Given the description of an element on the screen output the (x, y) to click on. 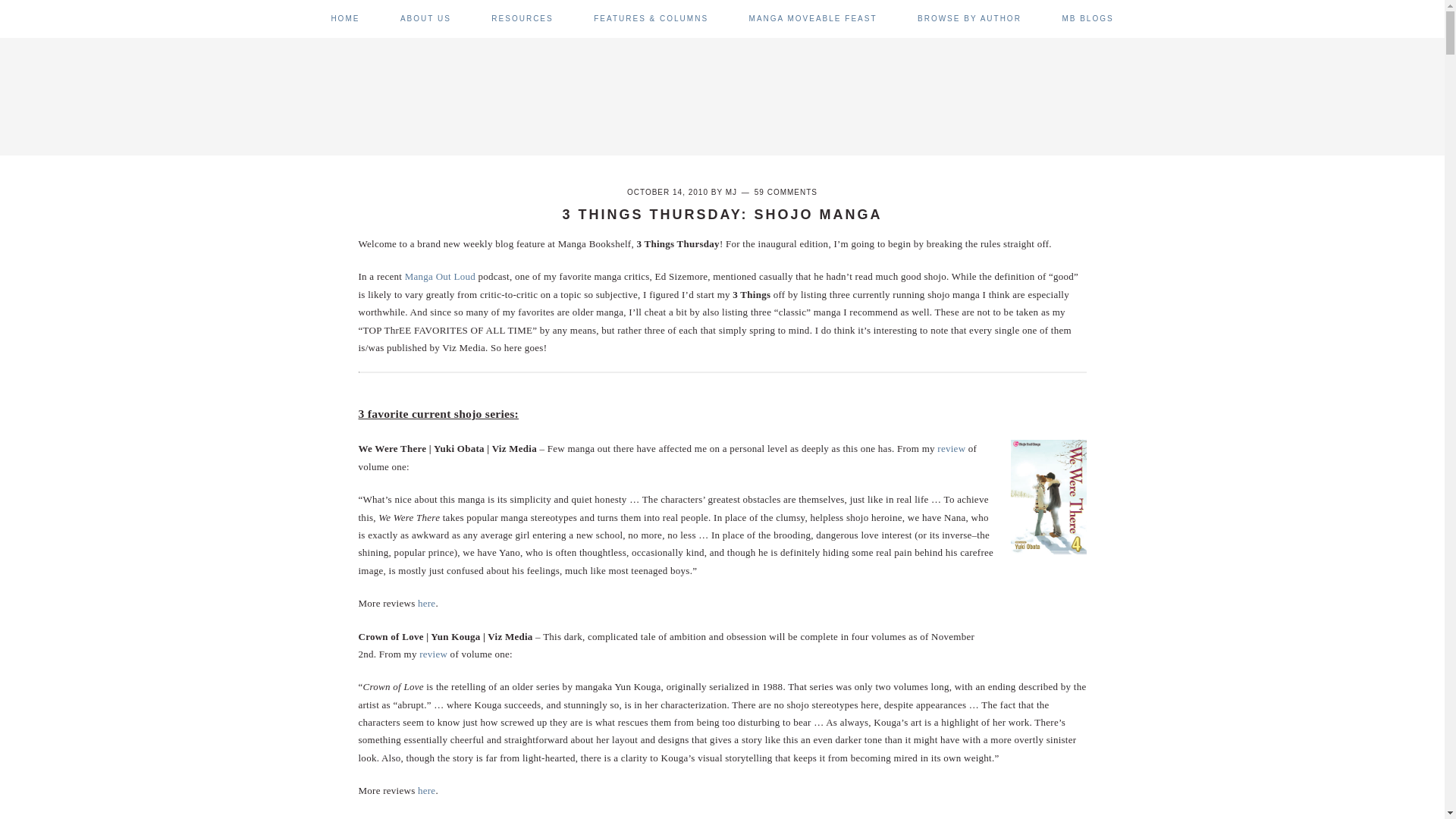
Posts by MJ (730, 192)
RESOURCES (521, 18)
ABOUT US (425, 18)
HOME (344, 18)
MANGA MOVEABLE FEAST (813, 18)
